Given the description of an element on the screen output the (x, y) to click on. 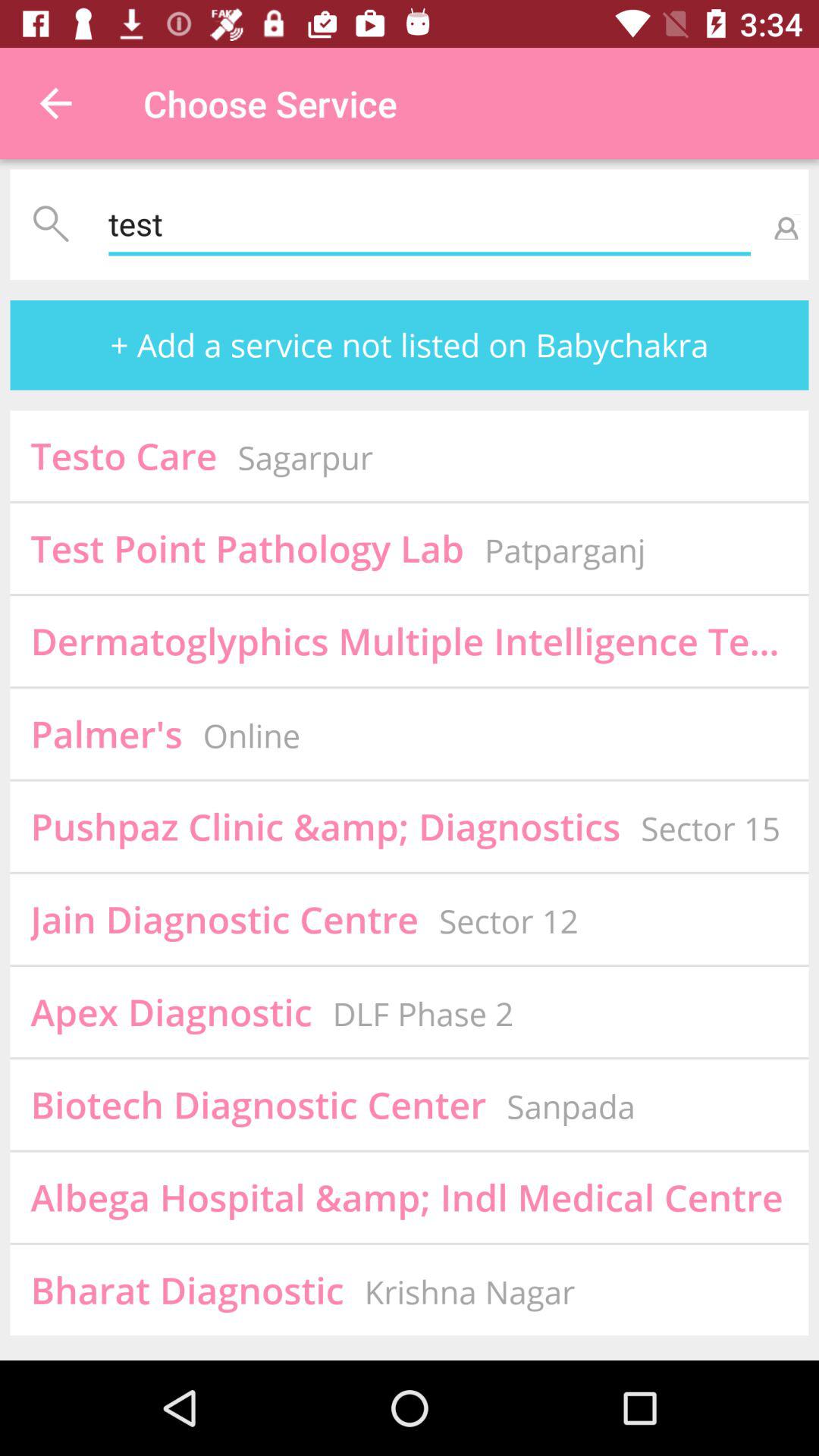
launch icon next to the choose service (55, 103)
